Given the description of an element on the screen output the (x, y) to click on. 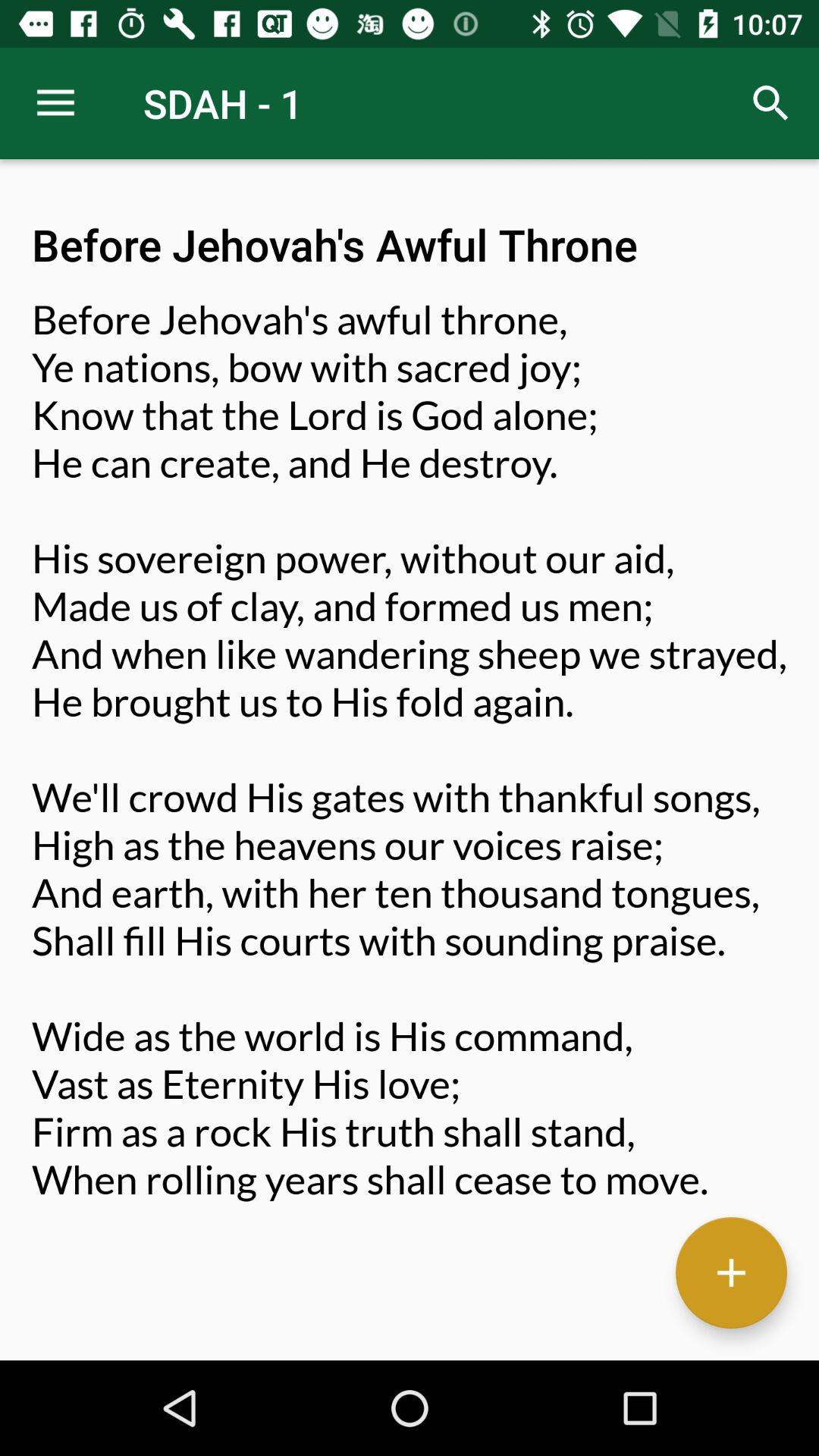
additional information (731, 1272)
